Given the description of an element on the screen output the (x, y) to click on. 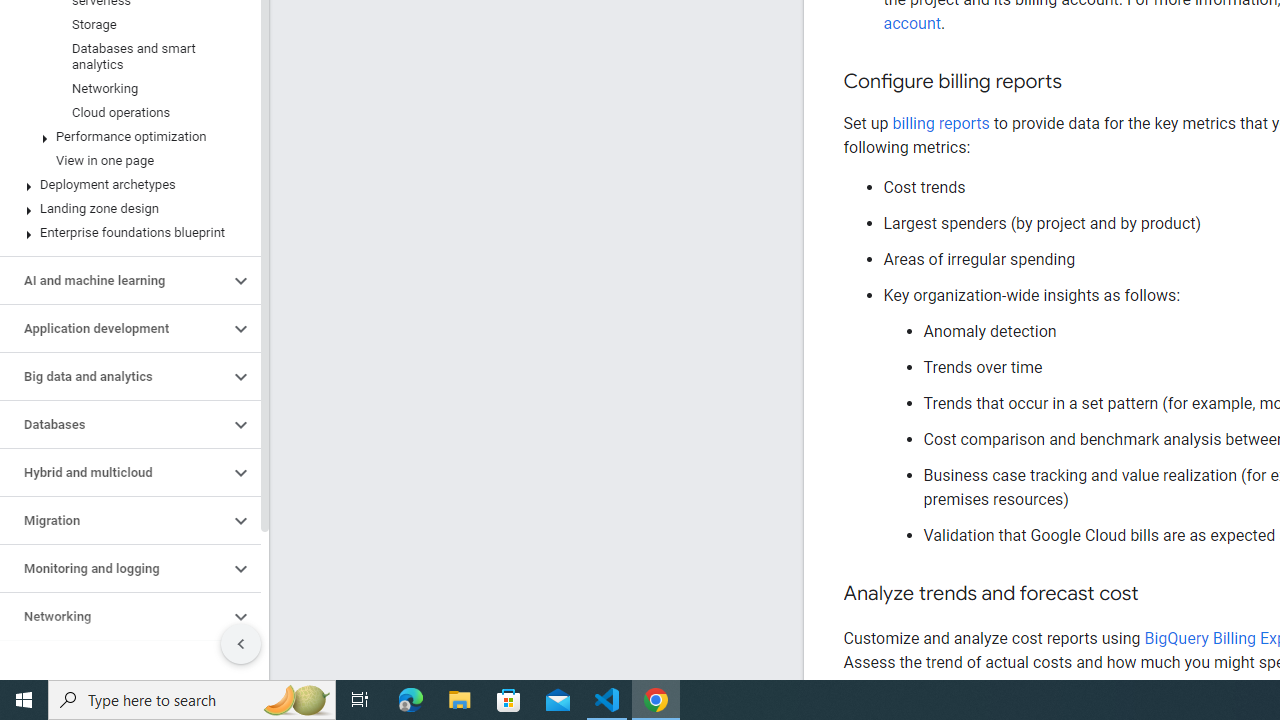
Networking (114, 616)
Hide side navigation (241, 643)
Landing zone design (126, 209)
Reliability and disaster recovery (114, 664)
Copy link to this section: Analyze trends and forecast cost (1157, 593)
Big data and analytics (114, 376)
Deployment archetypes (126, 184)
billing reports (940, 123)
